Given the description of an element on the screen output the (x, y) to click on. 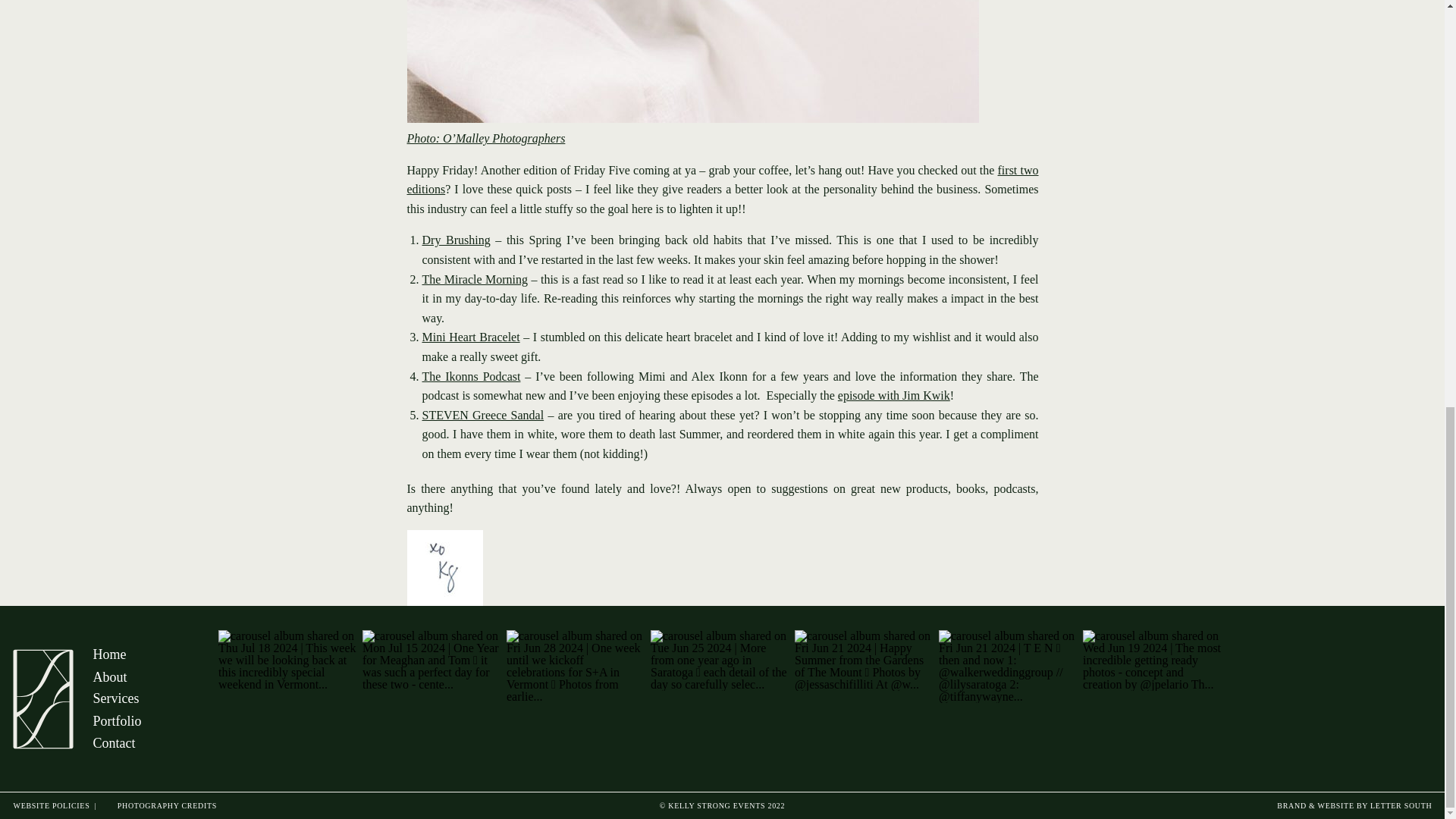
Contact (164, 743)
first two editions (722, 179)
Services (164, 697)
Portfolio (164, 719)
Mini Heart Bracelet (470, 336)
Dry Brushing (455, 239)
The Miracle Morning (474, 278)
STEVEN Greece Sandal (482, 414)
The Ikonns Podcast (470, 376)
Home (164, 653)
episode with Jim Kwik (894, 395)
